Given the description of an element on the screen output the (x, y) to click on. 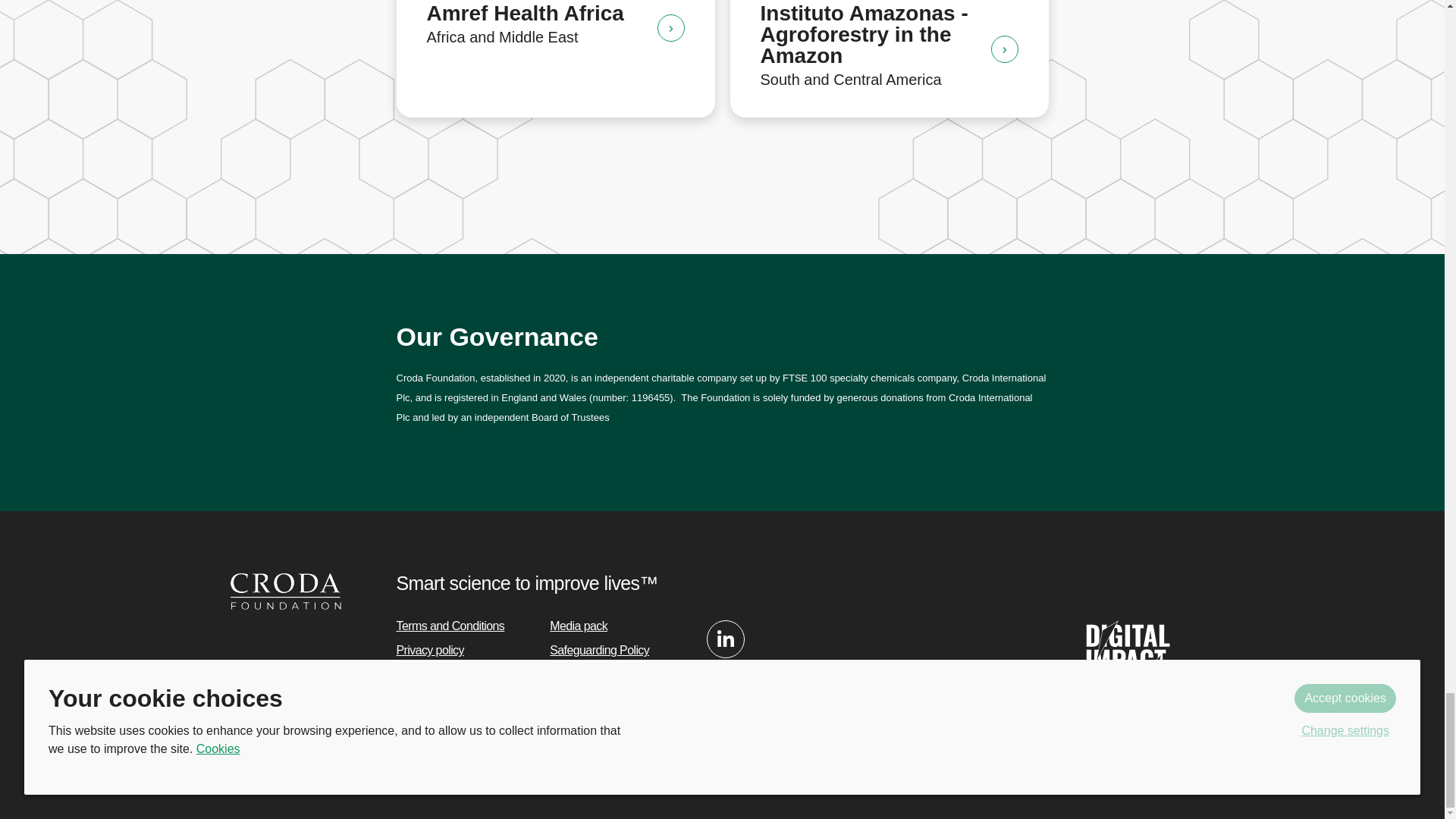
Instituto Amazonas - Agroforestry in the Amazon (1003, 49)
Serious Incident policy (605, 674)
Privacy policy  (429, 649)
Croda Foundation (285, 590)
Safeguarding Policy (599, 649)
Terms and Conditions (449, 625)
Whistleblowing policy (602, 698)
Serious Incident policy (605, 674)
Terms and Conditions (449, 625)
Safeguarding Policy (599, 649)
Amref Health Africa (670, 27)
Cookies (416, 674)
Whistleblowing policy (602, 698)
Annual Reports (434, 698)
Media pack (578, 625)
